Given the description of an element on the screen output the (x, y) to click on. 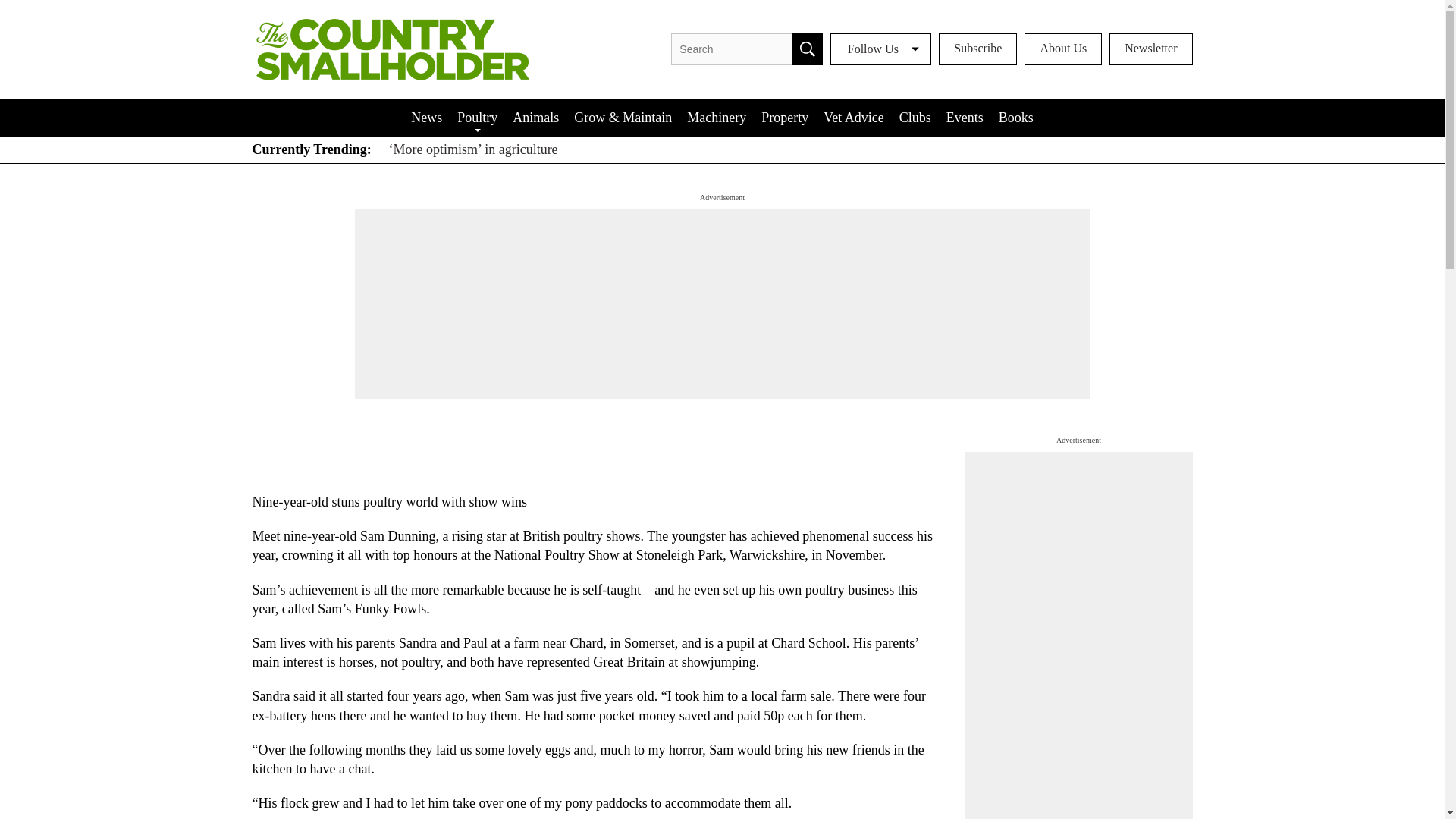
Machinery (716, 117)
Property (784, 117)
Search (807, 49)
Subscribe (977, 49)
Vet Advice (853, 117)
News (426, 117)
Books (1016, 117)
Follow Us (880, 49)
Newsletter (1150, 49)
About Us (1063, 49)
Poultry (477, 117)
Events (965, 117)
Clubs (915, 117)
Animals (535, 117)
